Given the description of an element on the screen output the (x, y) to click on. 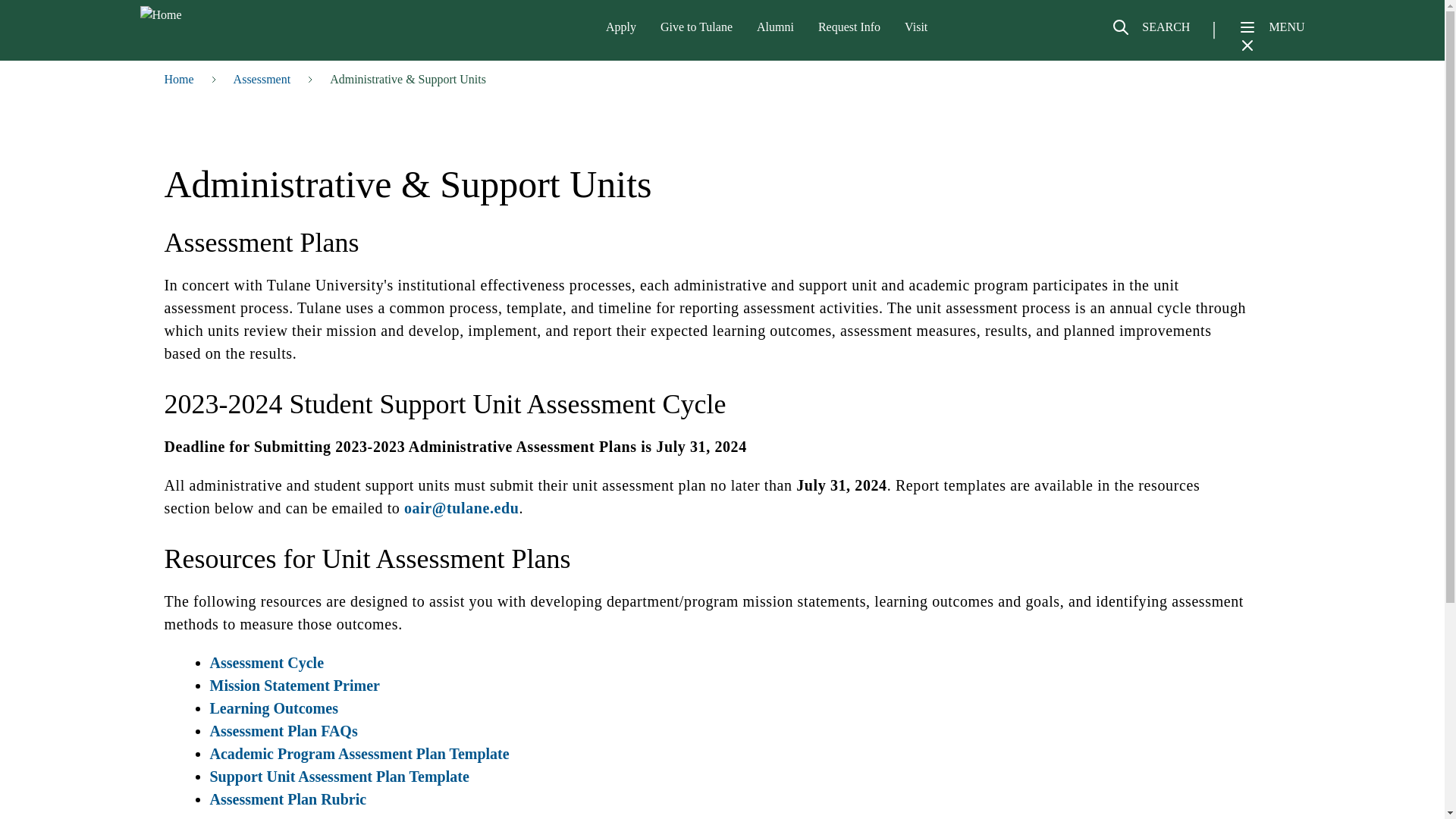
Visit (915, 26)
Give to Tulane (696, 26)
SEARCH (1150, 33)
Apply (620, 26)
Request Info (849, 26)
Home (218, 14)
Alumni (775, 26)
